Given the description of an element on the screen output the (x, y) to click on. 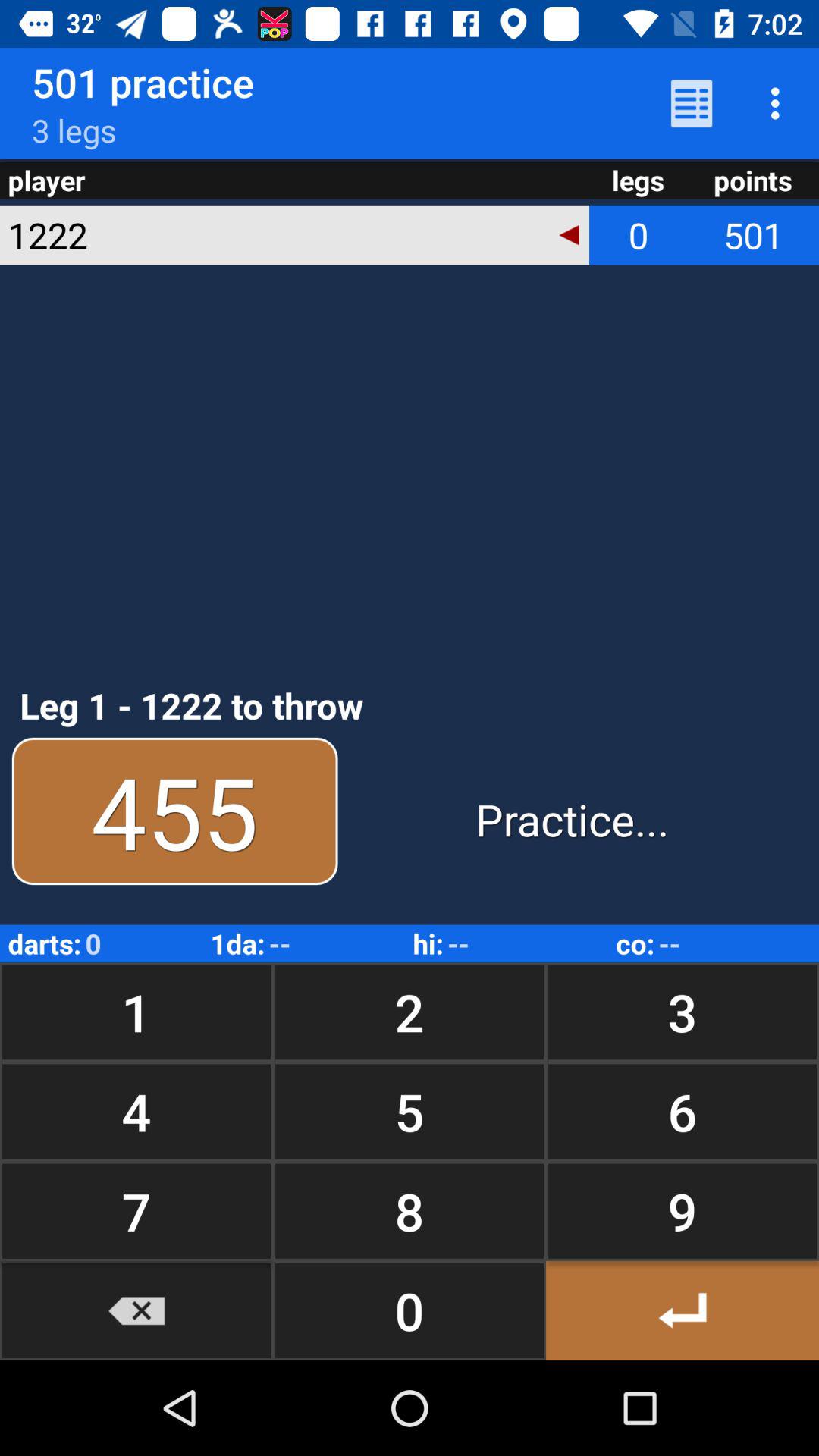
choose item above the 0 item (682, 1210)
